Given the description of an element on the screen output the (x, y) to click on. 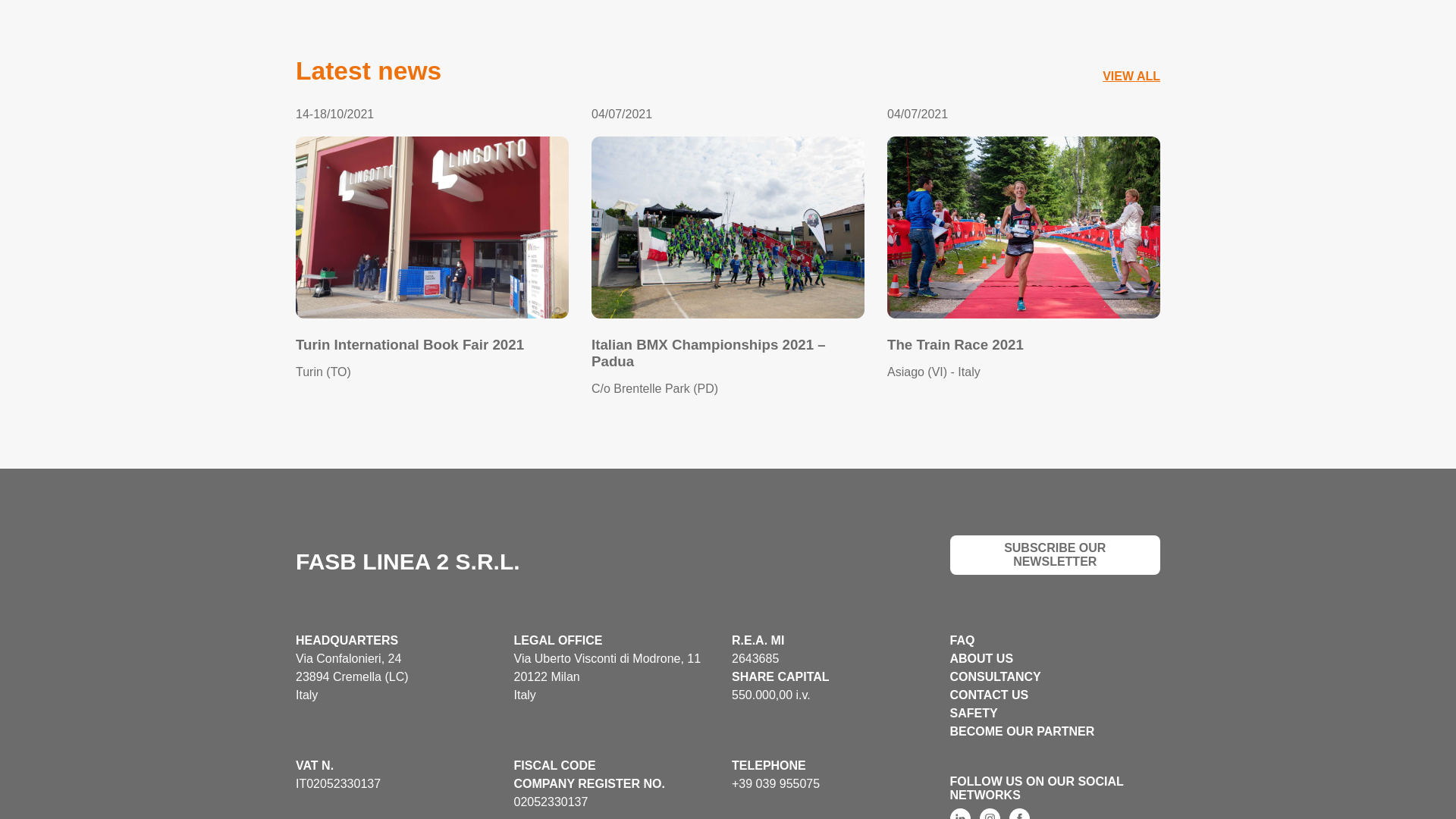
linkedin transenne (959, 813)
The Train Race 2021 Transenne.net (1023, 227)
Turin International Book Fair 2021 Transenne.net (432, 227)
facebook transenne (1019, 813)
instagram transenne (989, 813)
